Given the description of an element on the screen output the (x, y) to click on. 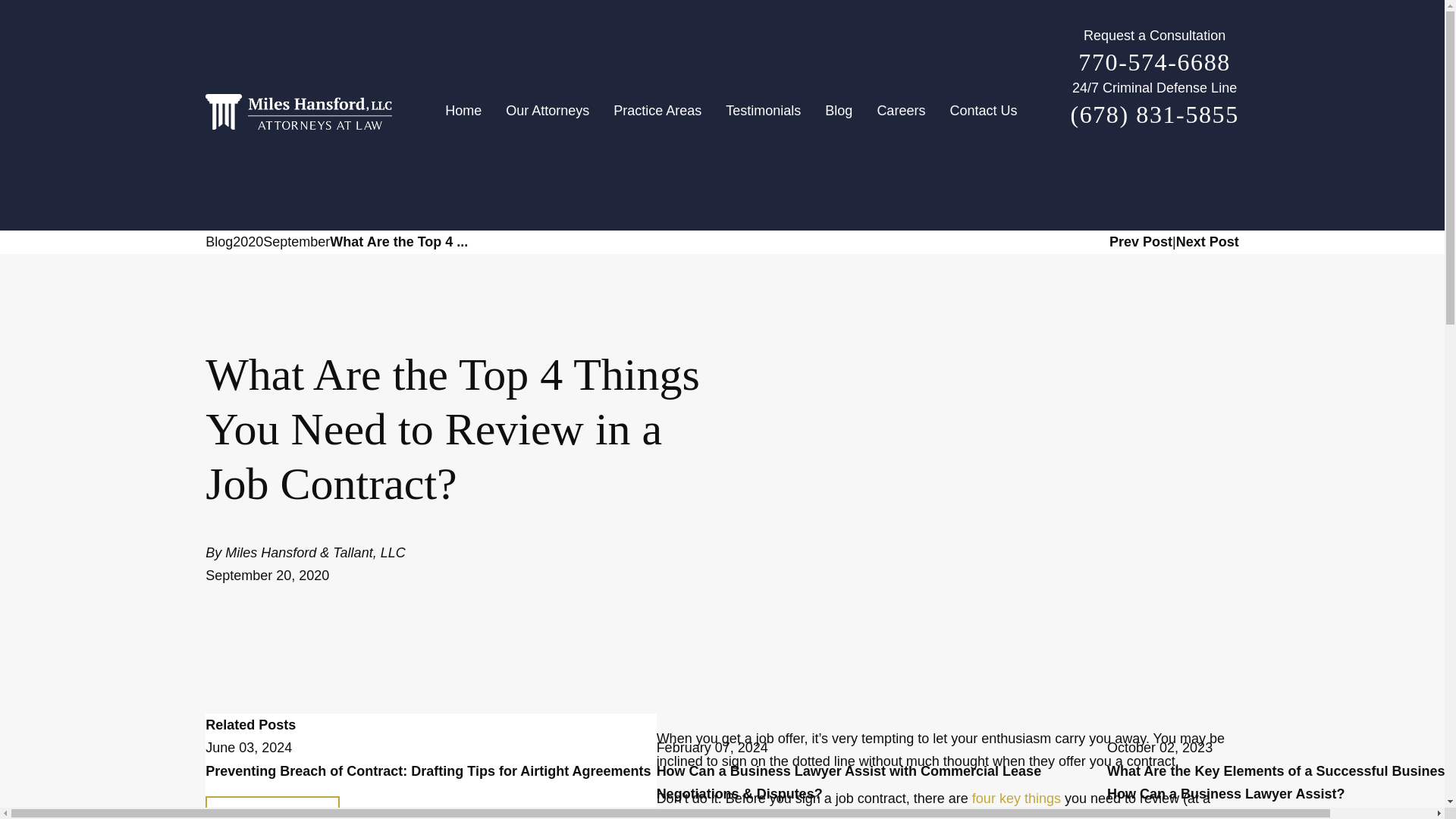
Blog (838, 114)
LinkedIn (1200, 166)
Open the accessibility options menu (1423, 786)
Miles Hansford, LLC (298, 111)
Our Attorneys (547, 114)
Practice Areas (657, 114)
Facebook (1107, 166)
Testimonials (762, 114)
Home (469, 114)
